Given the description of an element on the screen output the (x, y) to click on. 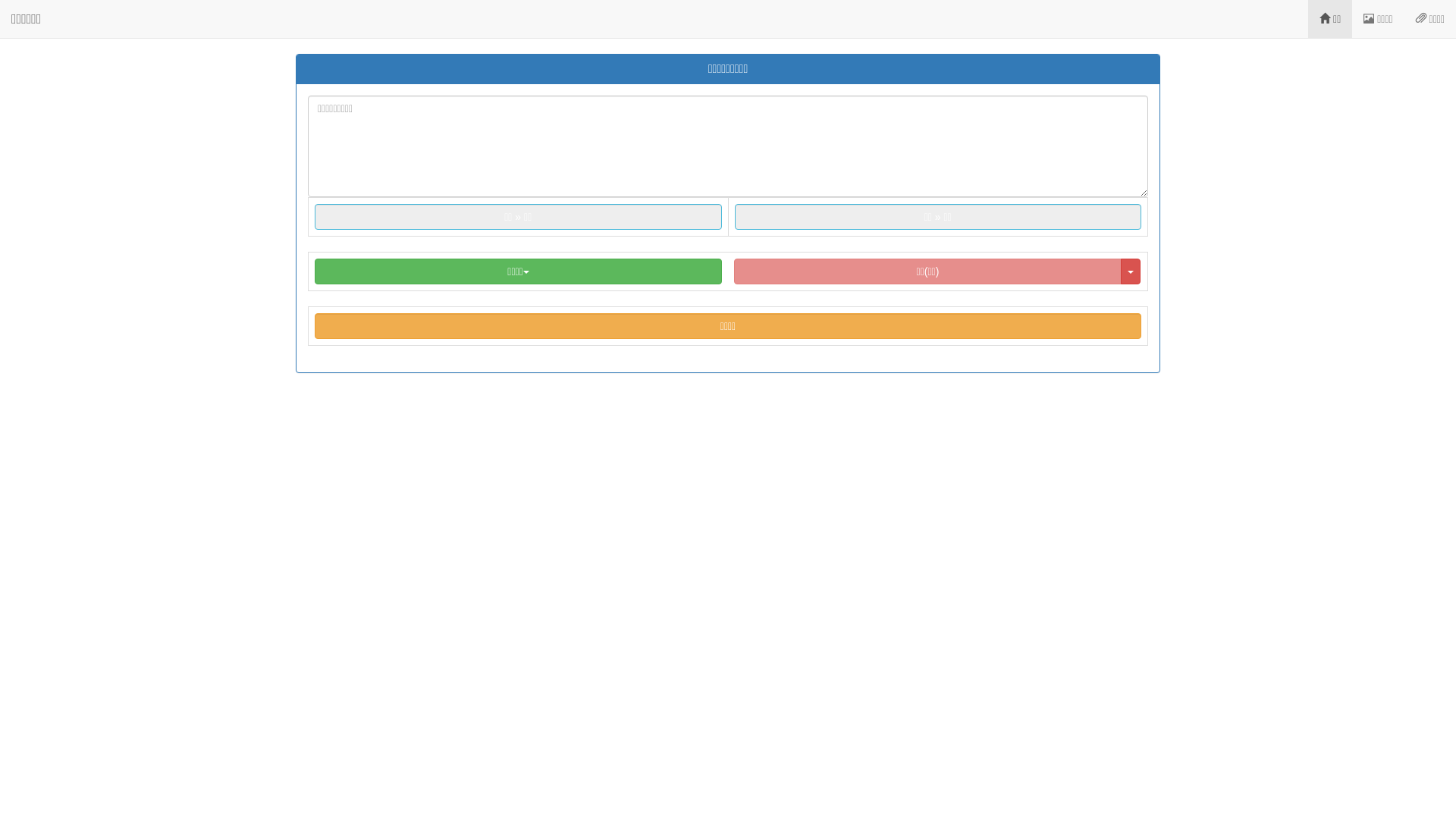
Toggle Dropdown Element type: text (1130, 271)
